Given the description of an element on the screen output the (x, y) to click on. 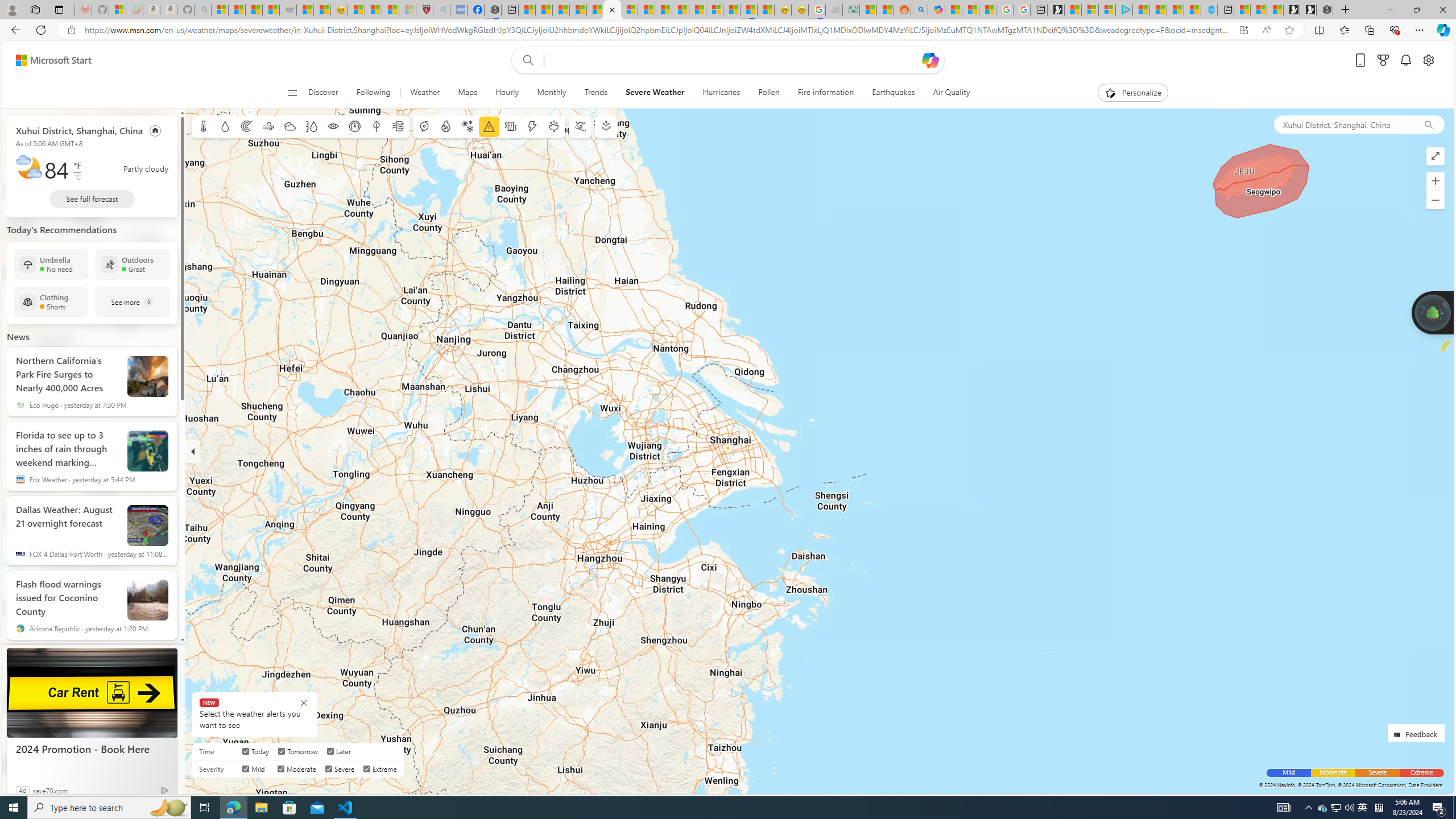
Pollen (768, 92)
Trends (596, 92)
Umbrella No need (50, 264)
Monthly (551, 92)
Dew point (376, 126)
